Given the description of an element on the screen output the (x, y) to click on. 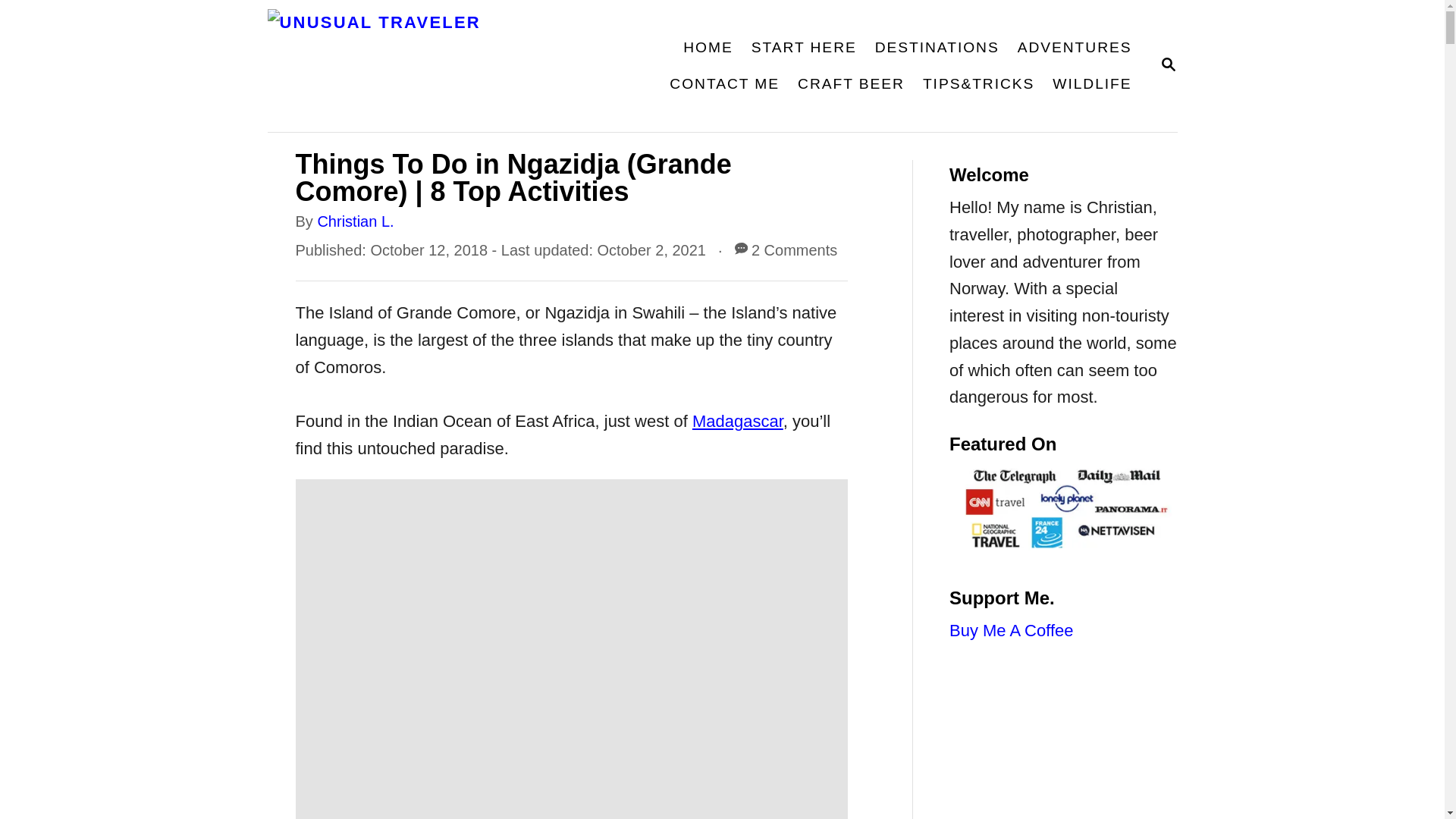
MAGNIFYING GLASS (1167, 64)
HOME (707, 47)
Unusual Traveler (451, 65)
DESTINATIONS (1167, 65)
START HERE (937, 47)
